Given the description of an element on the screen output the (x, y) to click on. 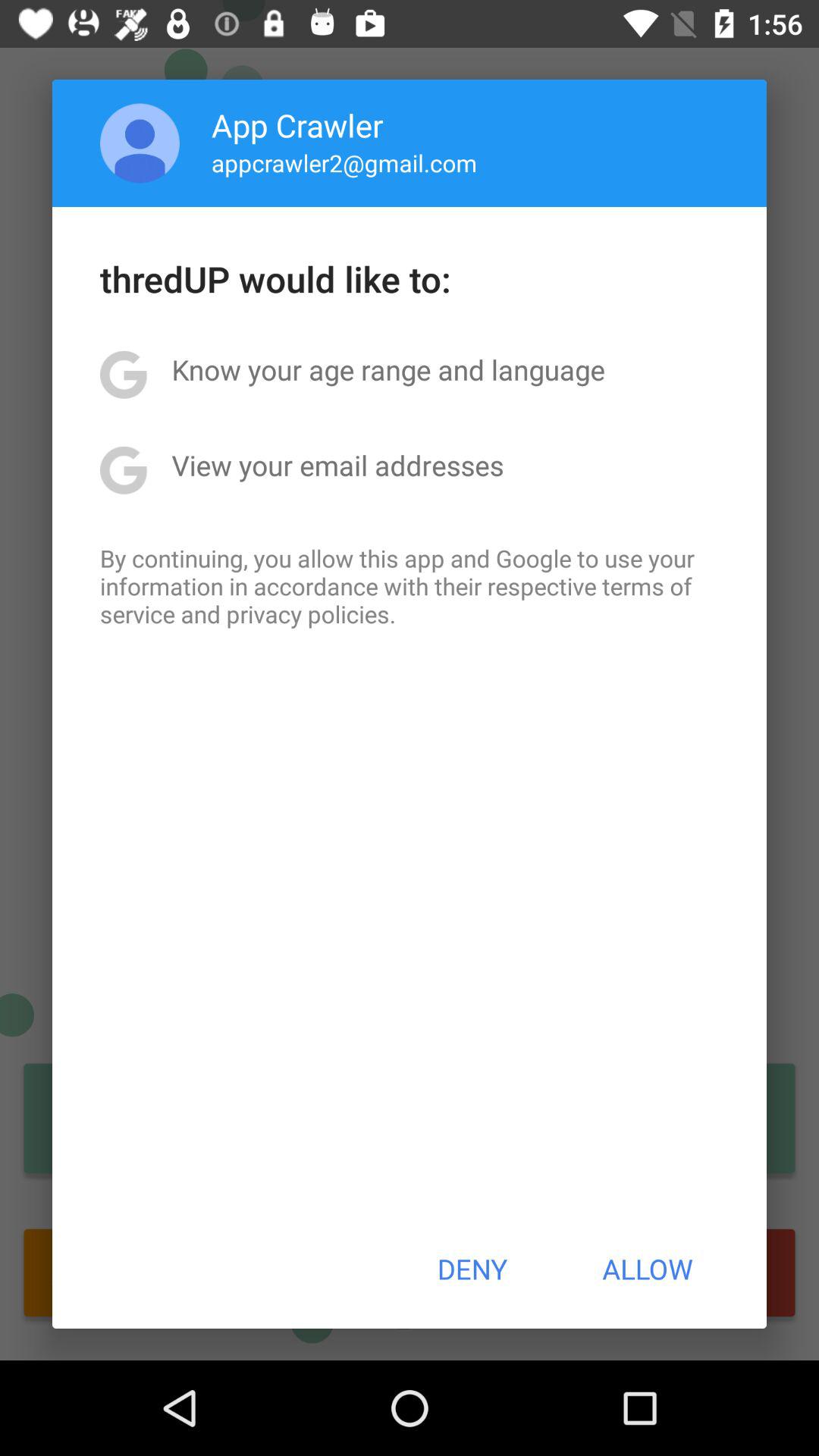
choose item below know your age (337, 465)
